Given the description of an element on the screen output the (x, y) to click on. 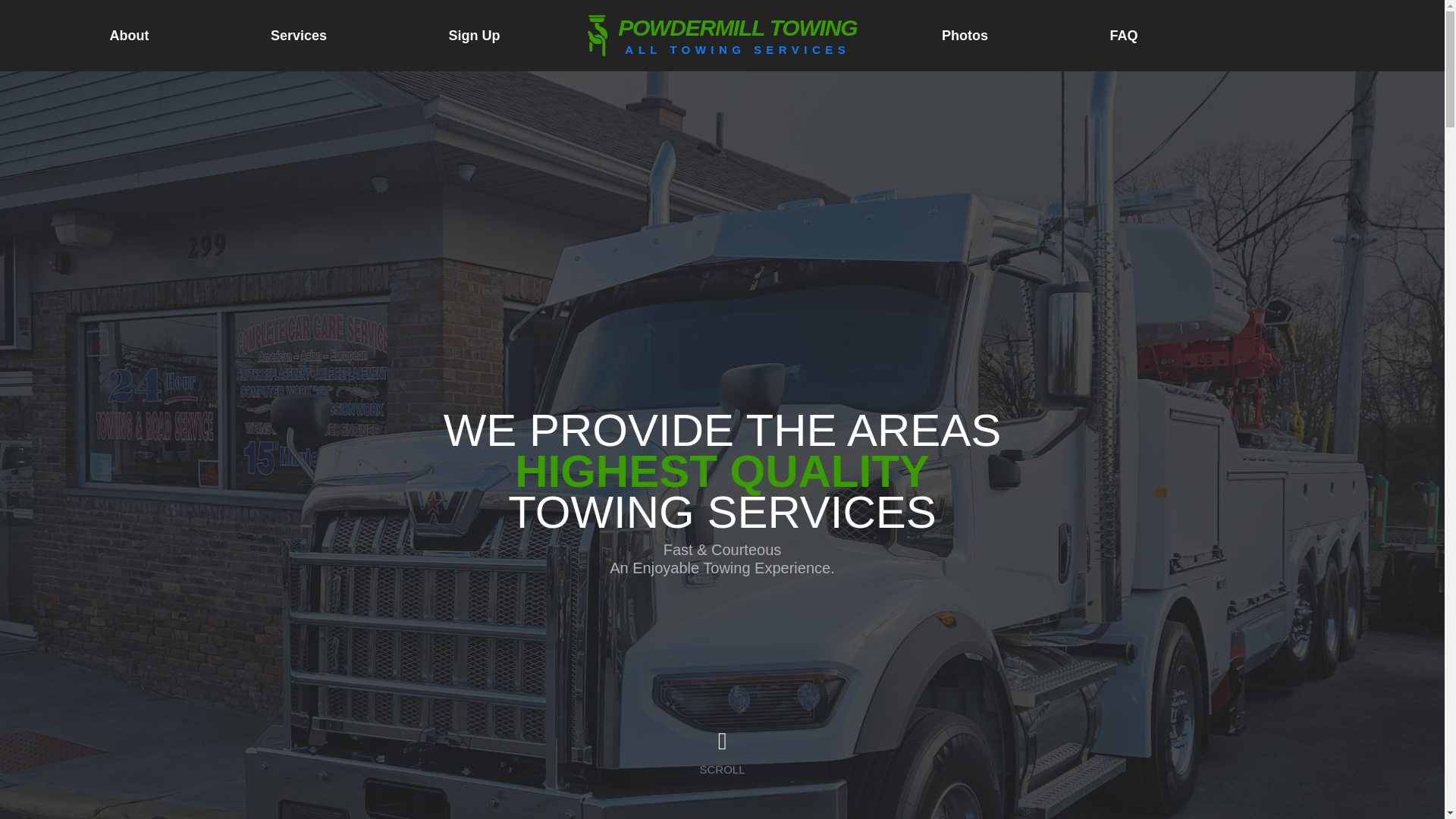
Go To Home Page (722, 35)
About Us (721, 753)
SCROLL (721, 755)
SCROLL (722, 35)
